Given the description of an element on the screen output the (x, y) to click on. 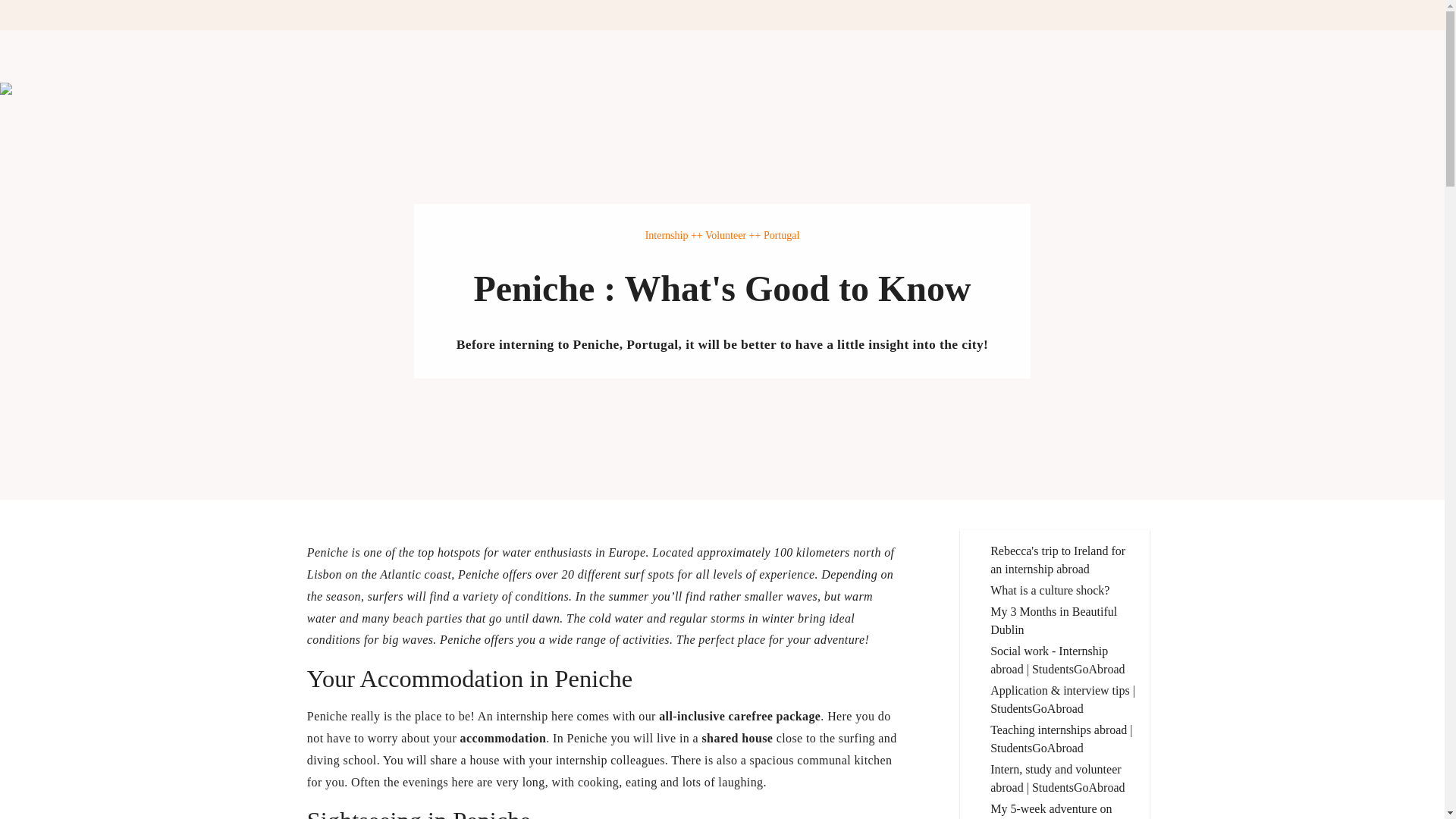
Rebecca's trip to Ireland for an internship abroad (1063, 560)
My 5-week adventure on Australia's east coast (1063, 809)
My 3 Months in Beautiful Dublin (1063, 620)
What is a culture shock? (1063, 590)
